Given the description of an element on the screen output the (x, y) to click on. 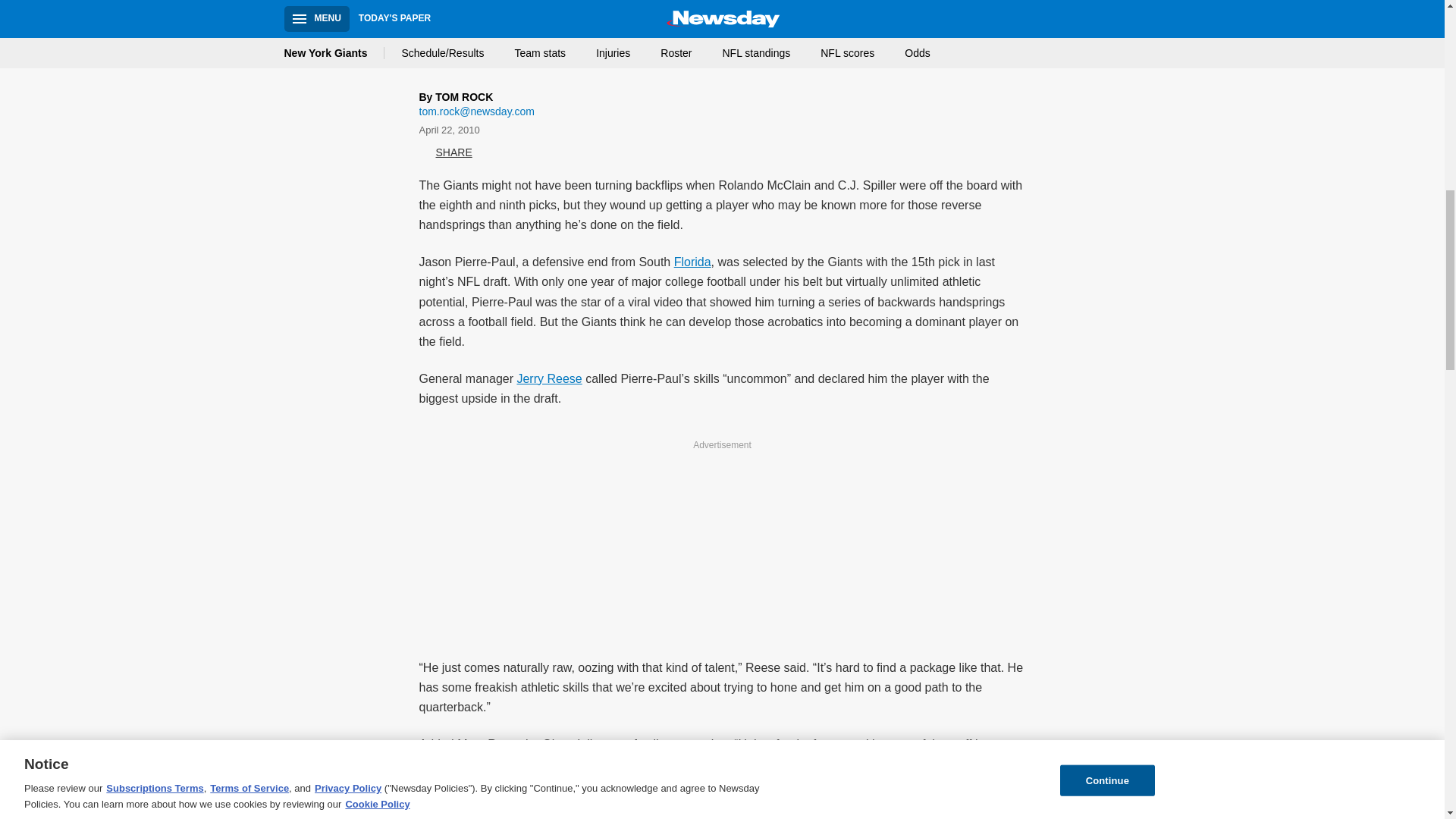
Osi Umenyiora (862, 816)
Florida (692, 261)
NFL (904, 61)
Jerry Reese (548, 378)
Giants (453, 61)
SHARE (445, 152)
